Given the description of an element on the screen output the (x, y) to click on. 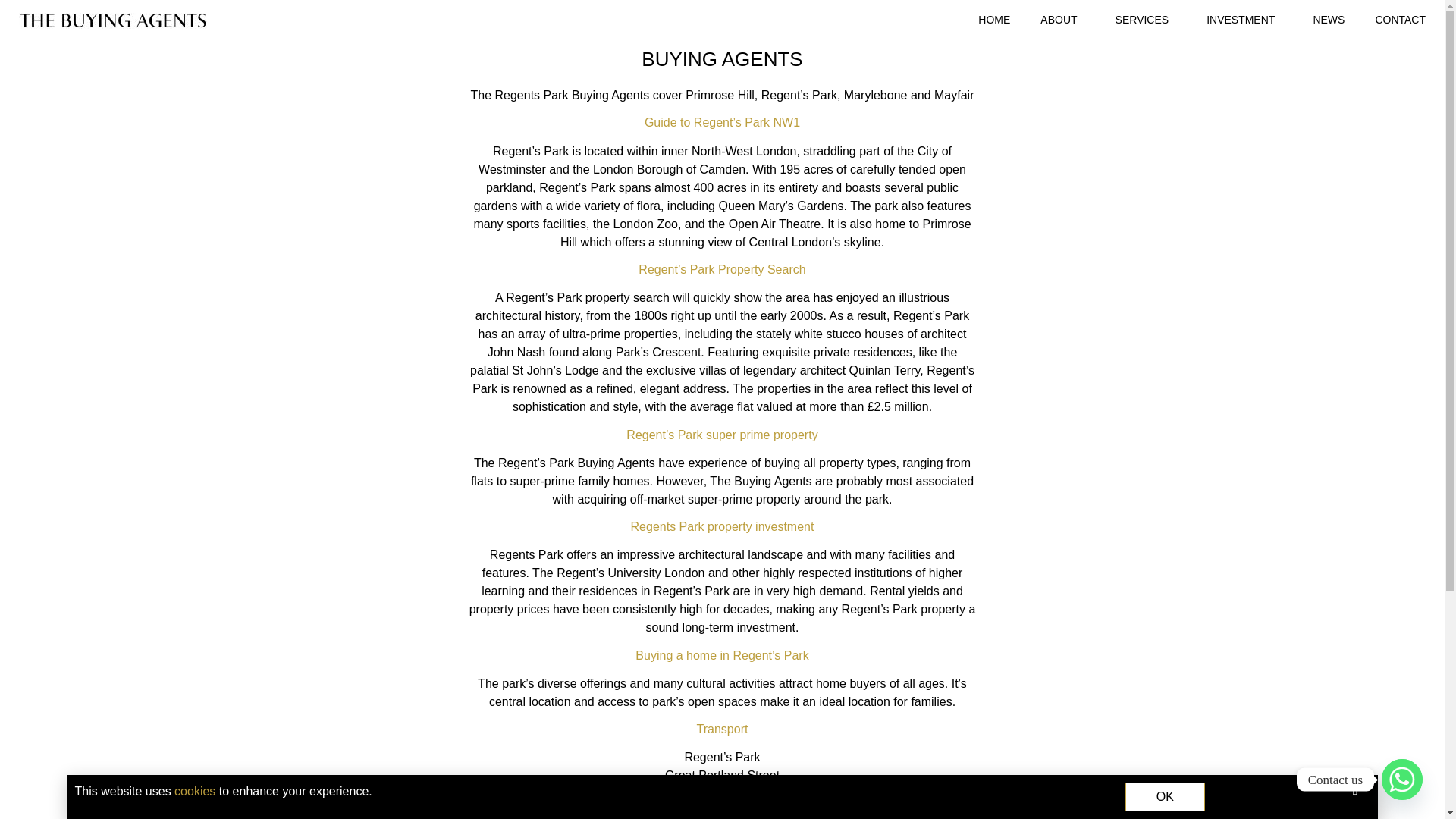
SERVICES (1146, 20)
CONTACT (1400, 20)
INVESTMENT (1244, 20)
NEWS (1328, 20)
ABOUT (1062, 20)
HOME (993, 20)
The Buying Agents site logo (113, 20)
